Given the description of an element on the screen output the (x, y) to click on. 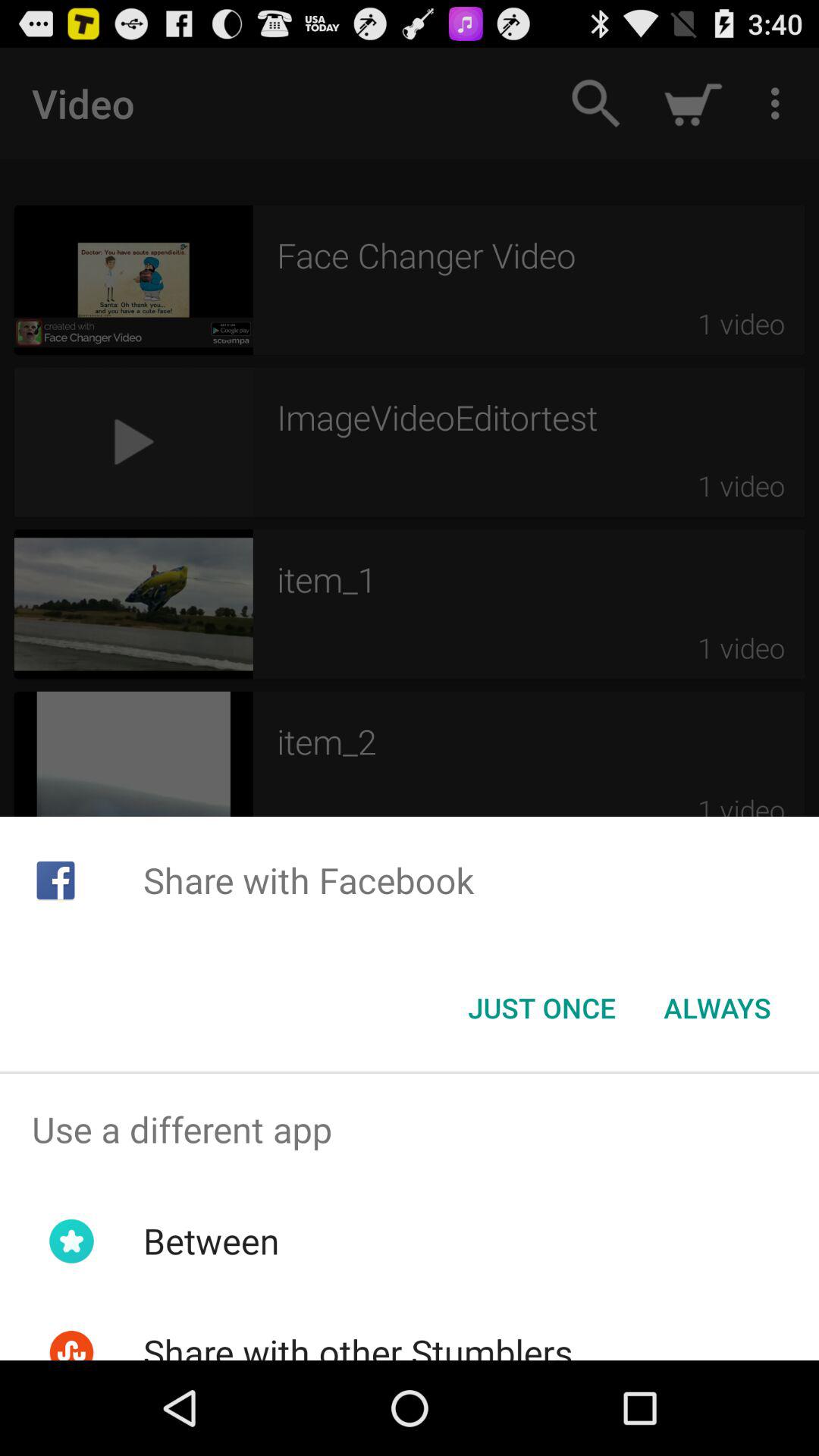
launch the icon above the share with other icon (211, 1240)
